Given the description of an element on the screen output the (x, y) to click on. 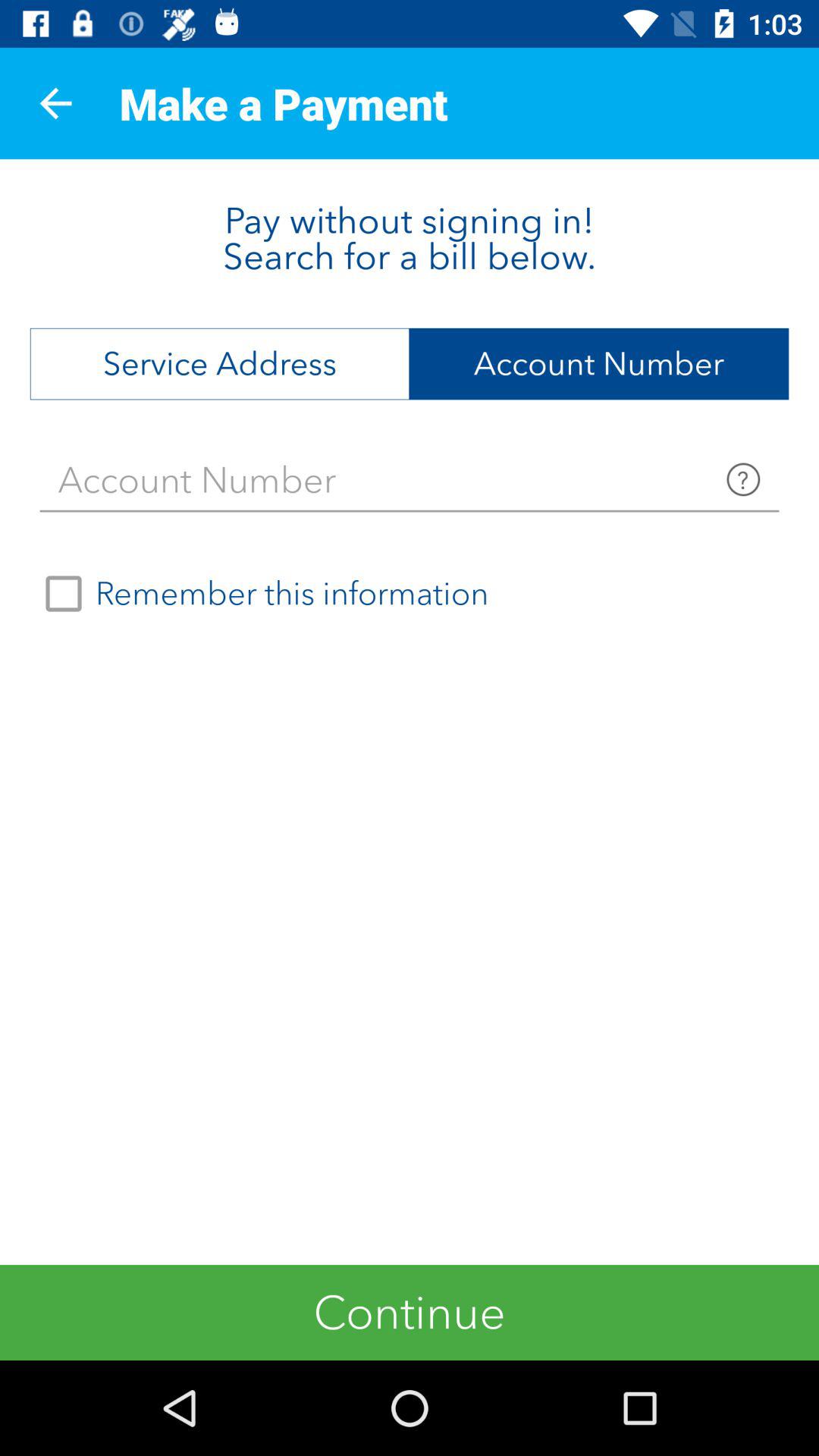
turn off the icon below service address item (409, 479)
